Given the description of an element on the screen output the (x, y) to click on. 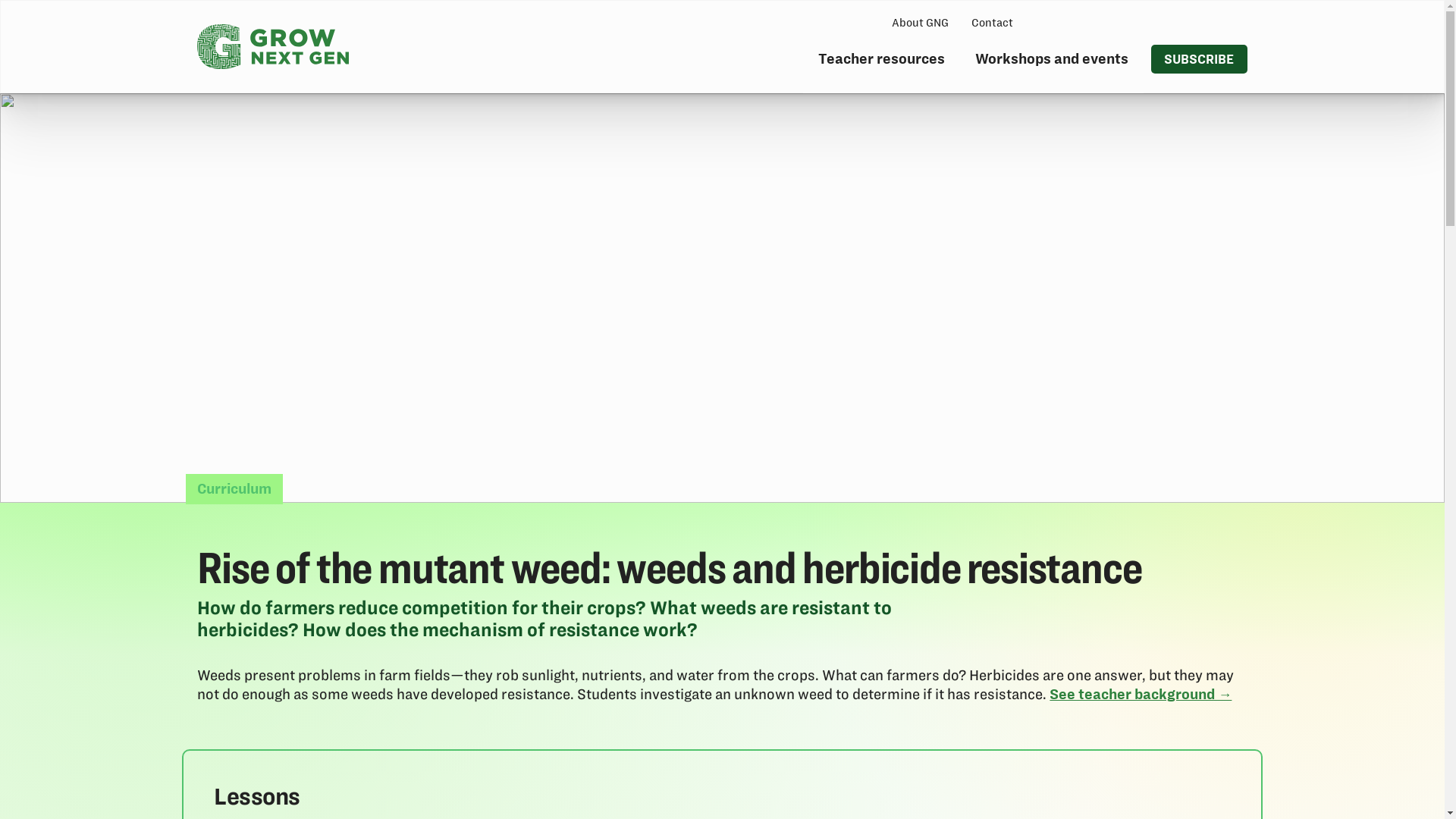
Rise of the mutant weed: weeds and herbicide resistance (233, 557)
Contact (992, 23)
Subscribe to the GrowNextGen mailing list (1199, 59)
About GNG (920, 23)
Workshops and events (1050, 63)
SUBSCRIBE (1199, 59)
Curriculum (234, 489)
Curriculum (234, 489)
